Given the description of an element on the screen output the (x, y) to click on. 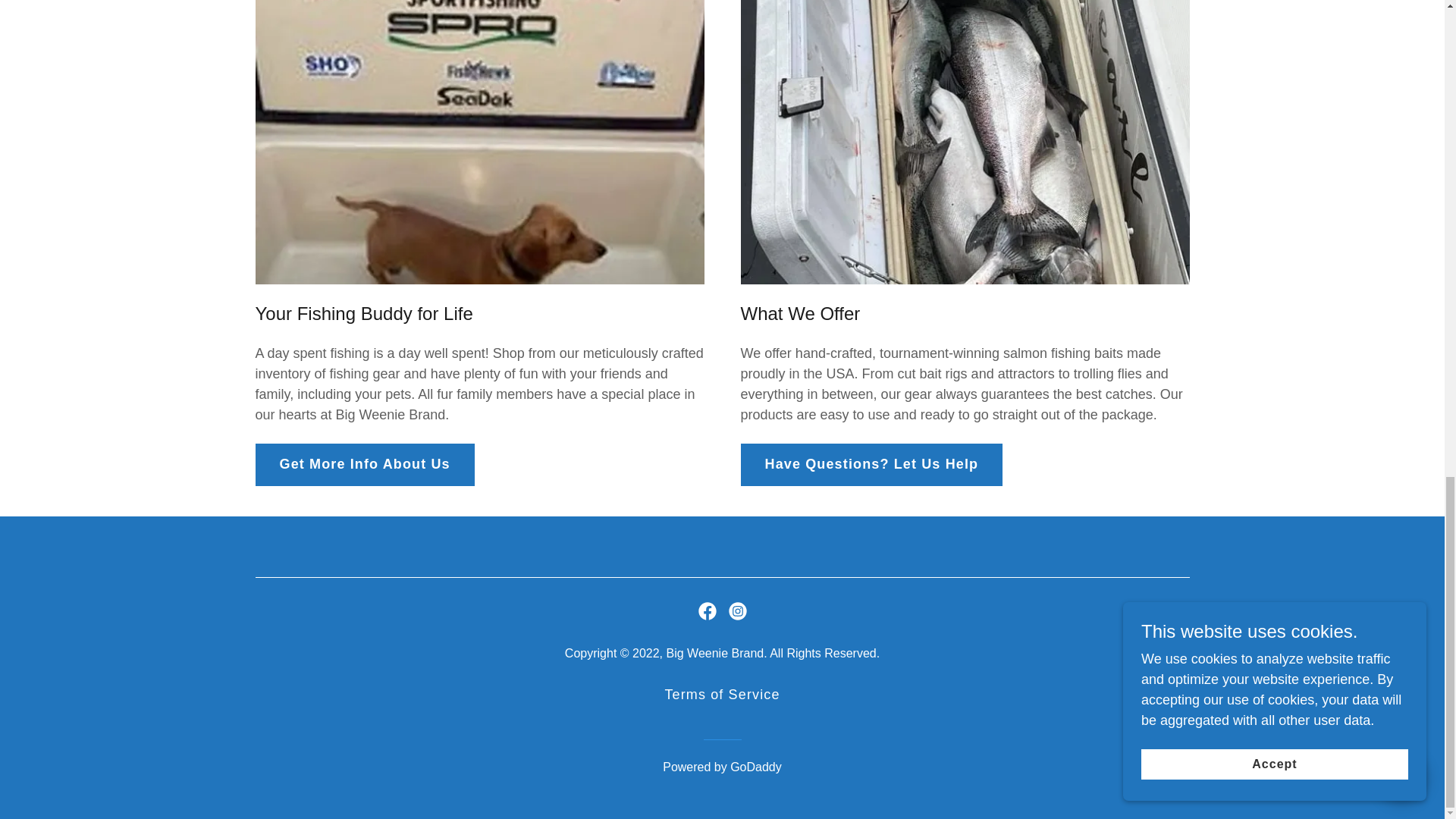
GoDaddy (755, 766)
Have Questions? Let Us Help (871, 464)
Terms of Service (722, 694)
Get More Info About Us (364, 464)
